Given the description of an element on the screen output the (x, y) to click on. 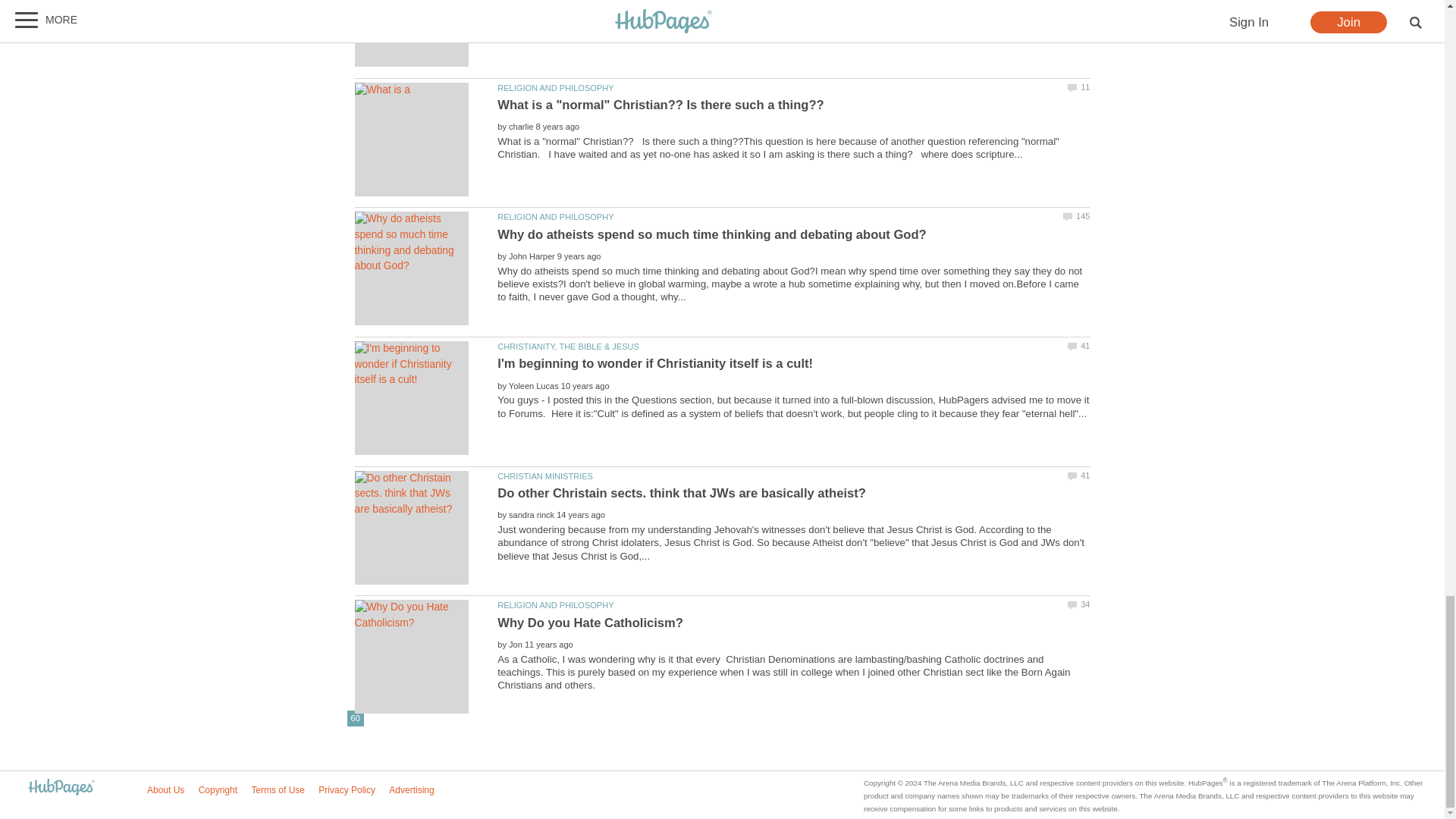
Hubber Score (355, 718)
Hubber Score (353, 718)
